Given the description of an element on the screen output the (x, y) to click on. 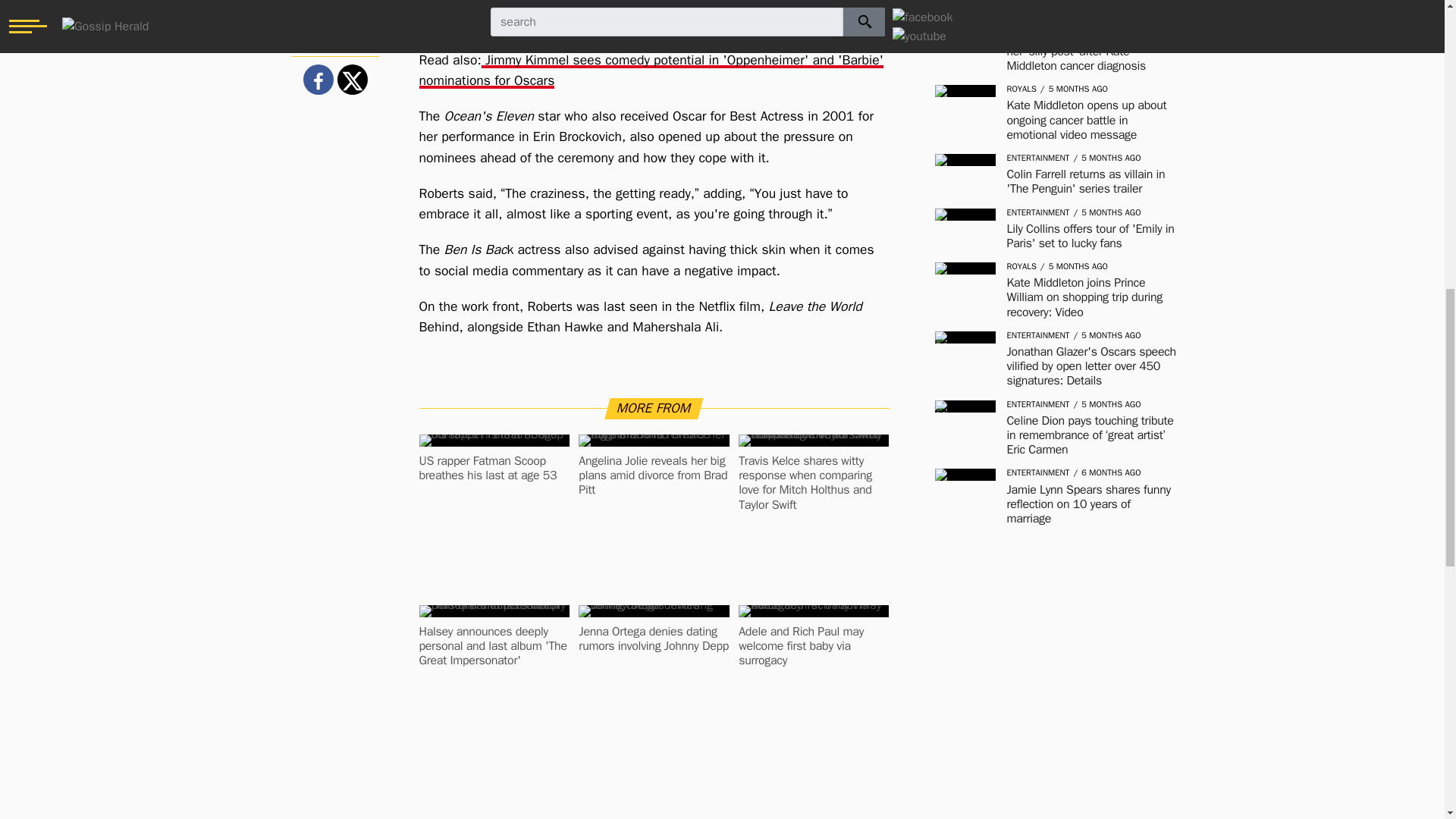
US rapper Fatman Scoop breathes his last at age 53 (494, 468)
Jenna Ortega denies dating rumors involving Johnny Depp (653, 638)
Adele and Rich Paul may welcome first baby via surrogacy (813, 646)
